Given the description of an element on the screen output the (x, y) to click on. 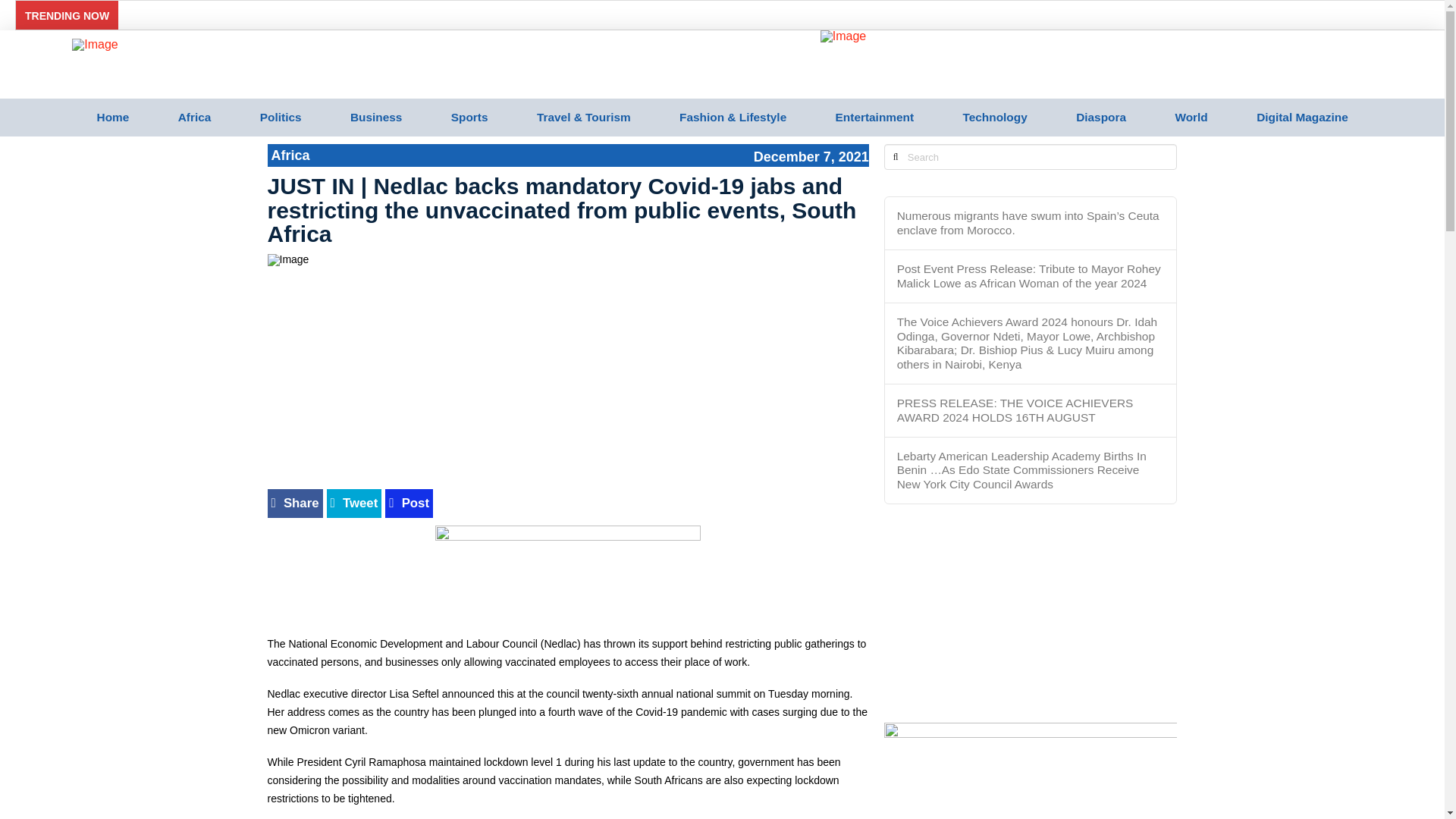
Post (408, 503)
Home (111, 117)
Africa (193, 117)
Sports (469, 117)
Share (293, 503)
Politics (279, 117)
World (1190, 117)
Digital Magazine (1302, 117)
